Given the description of an element on the screen output the (x, y) to click on. 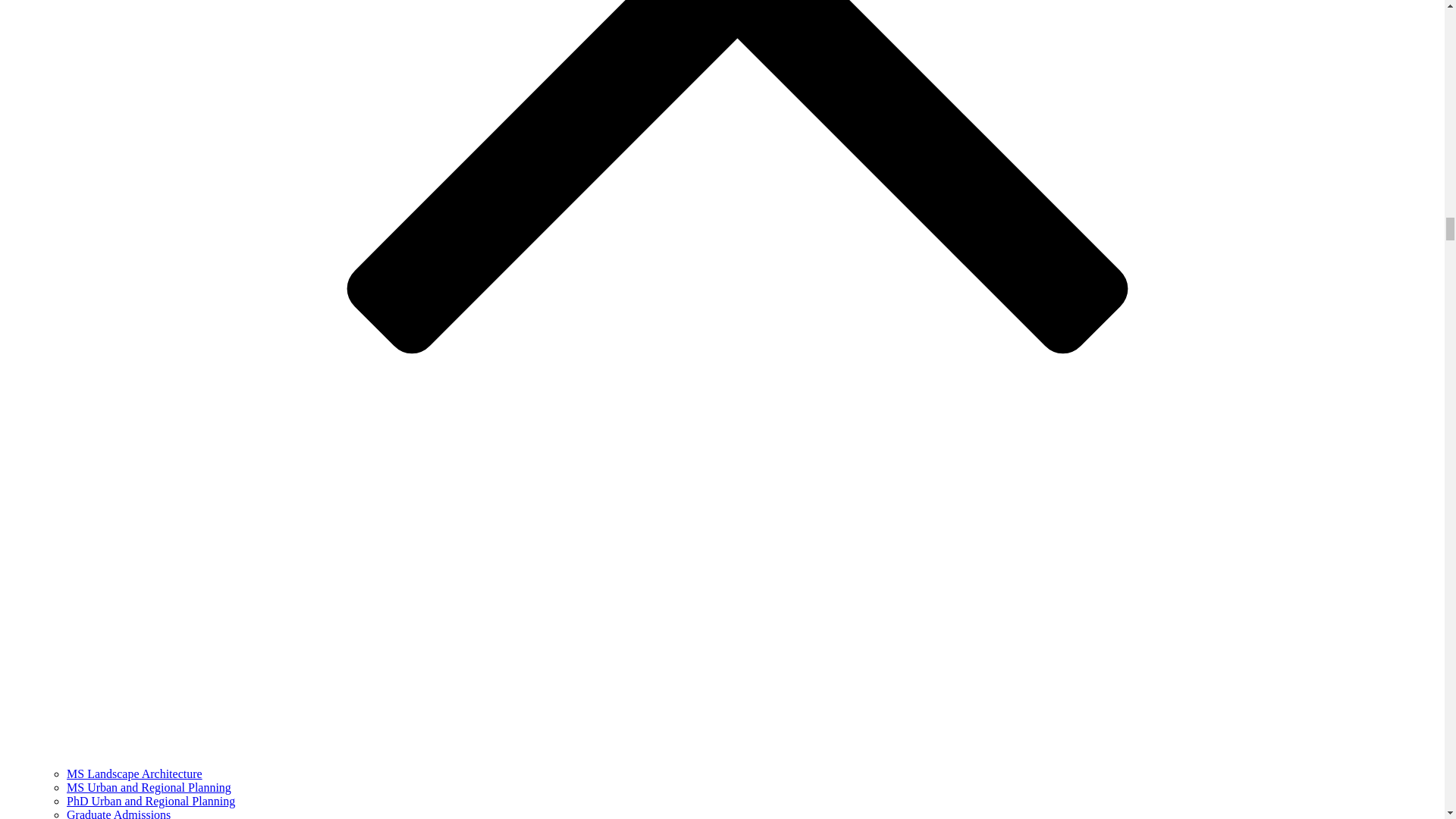
MS Urban and Regional Planning (148, 787)
Graduate Admissions (118, 813)
MS Landscape Architecture (134, 773)
PhD Urban and Regional Planning (150, 800)
